Given the description of an element on the screen output the (x, y) to click on. 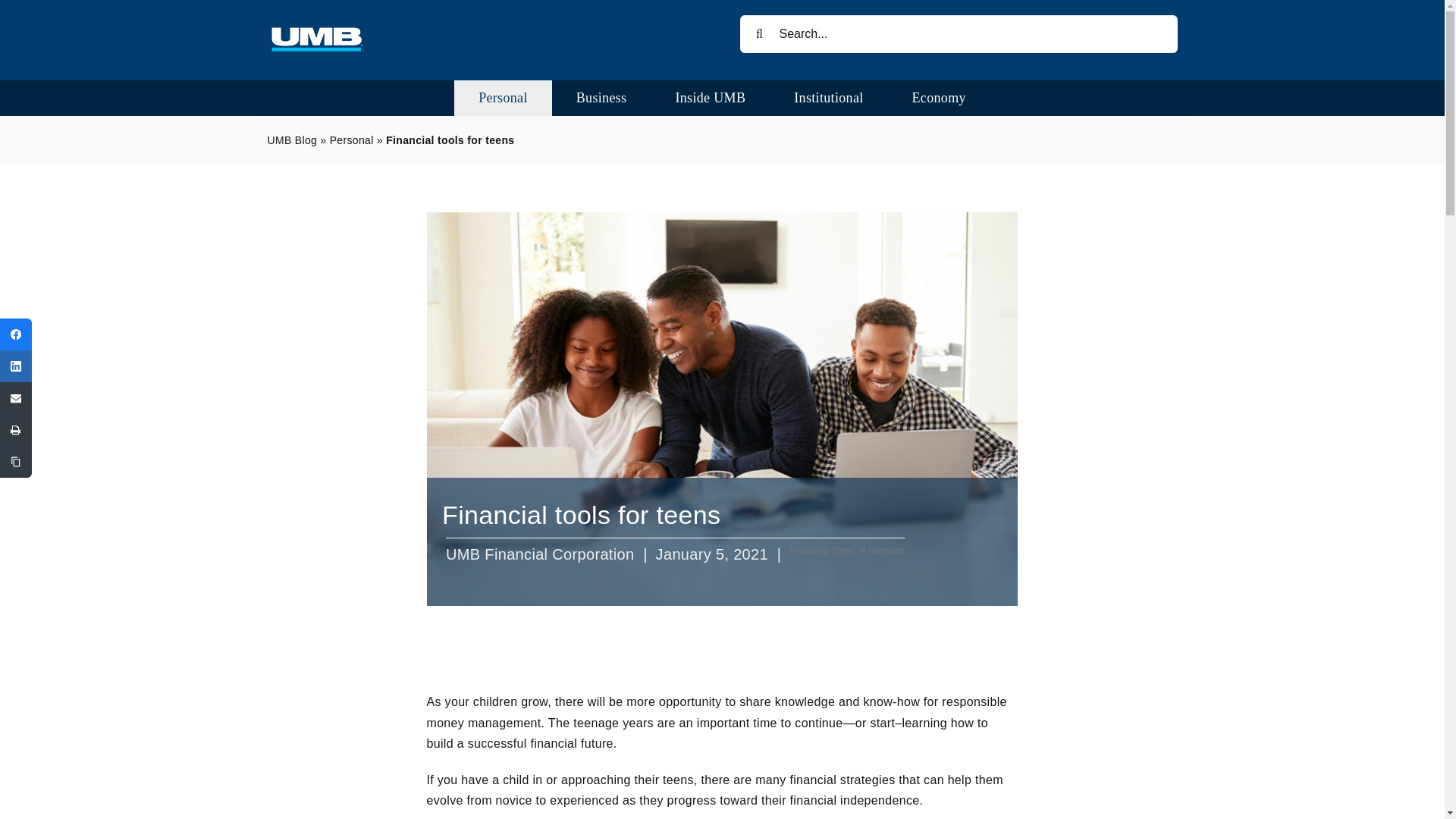
Business (600, 98)
UMB Blog (291, 140)
Personal (502, 98)
Personal (352, 140)
Institutional (828, 98)
Inside UMB (710, 98)
Economy (939, 98)
